Given the description of an element on the screen output the (x, y) to click on. 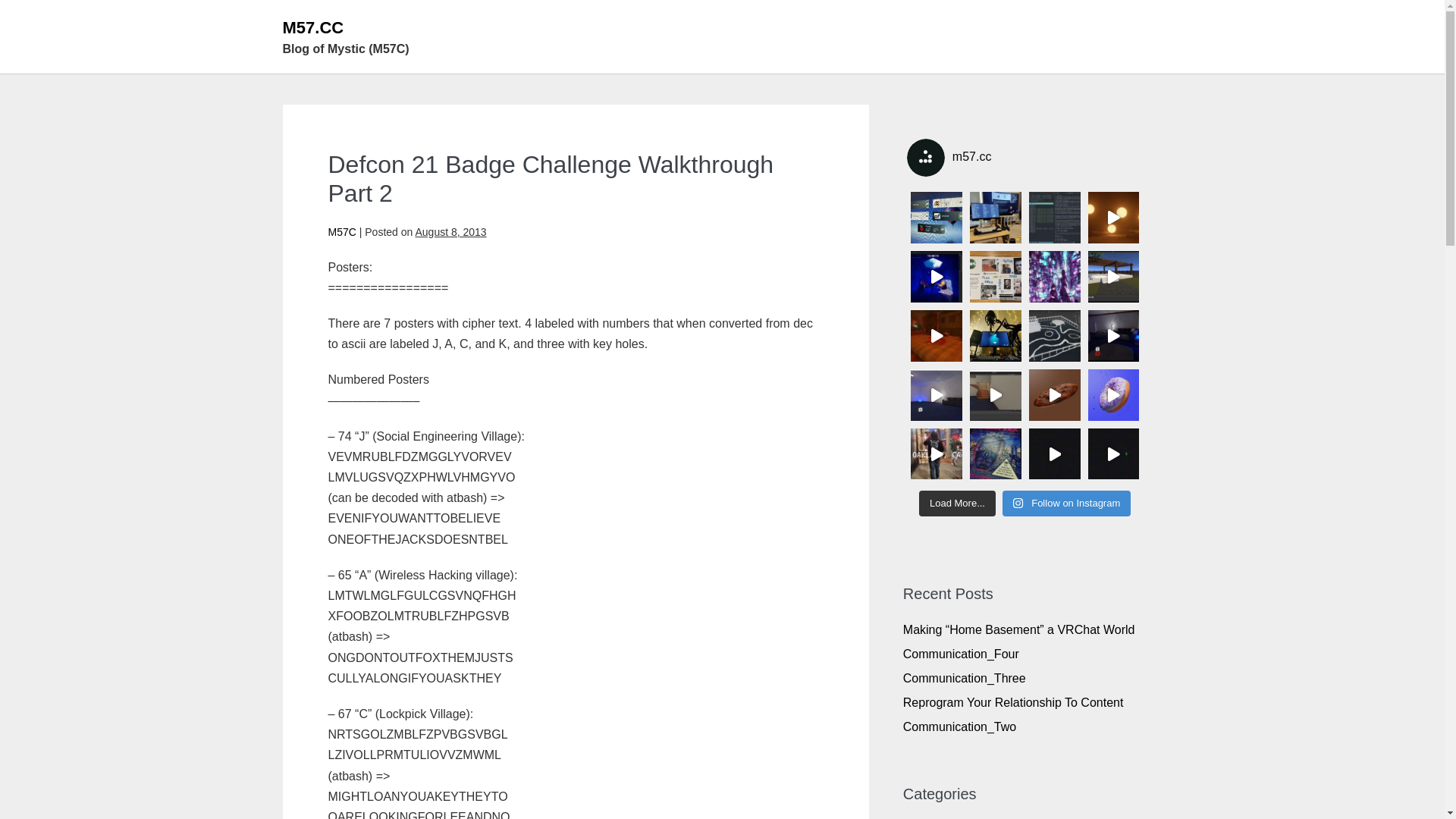
Communication_Three Element type: text (964, 677)
M57C Element type: text (341, 231)
Communication_Four Element type: text (961, 653)
Follow on Instagram Element type: text (1066, 503)
Communication_Two Element type: text (959, 726)
M57.CC Element type: text (312, 27)
m57.cc Element type: text (1024, 157)
Reprogram Your Relationship To Content Element type: text (1013, 702)
Load More... Element type: text (957, 503)
